Given the description of an element on the screen output the (x, y) to click on. 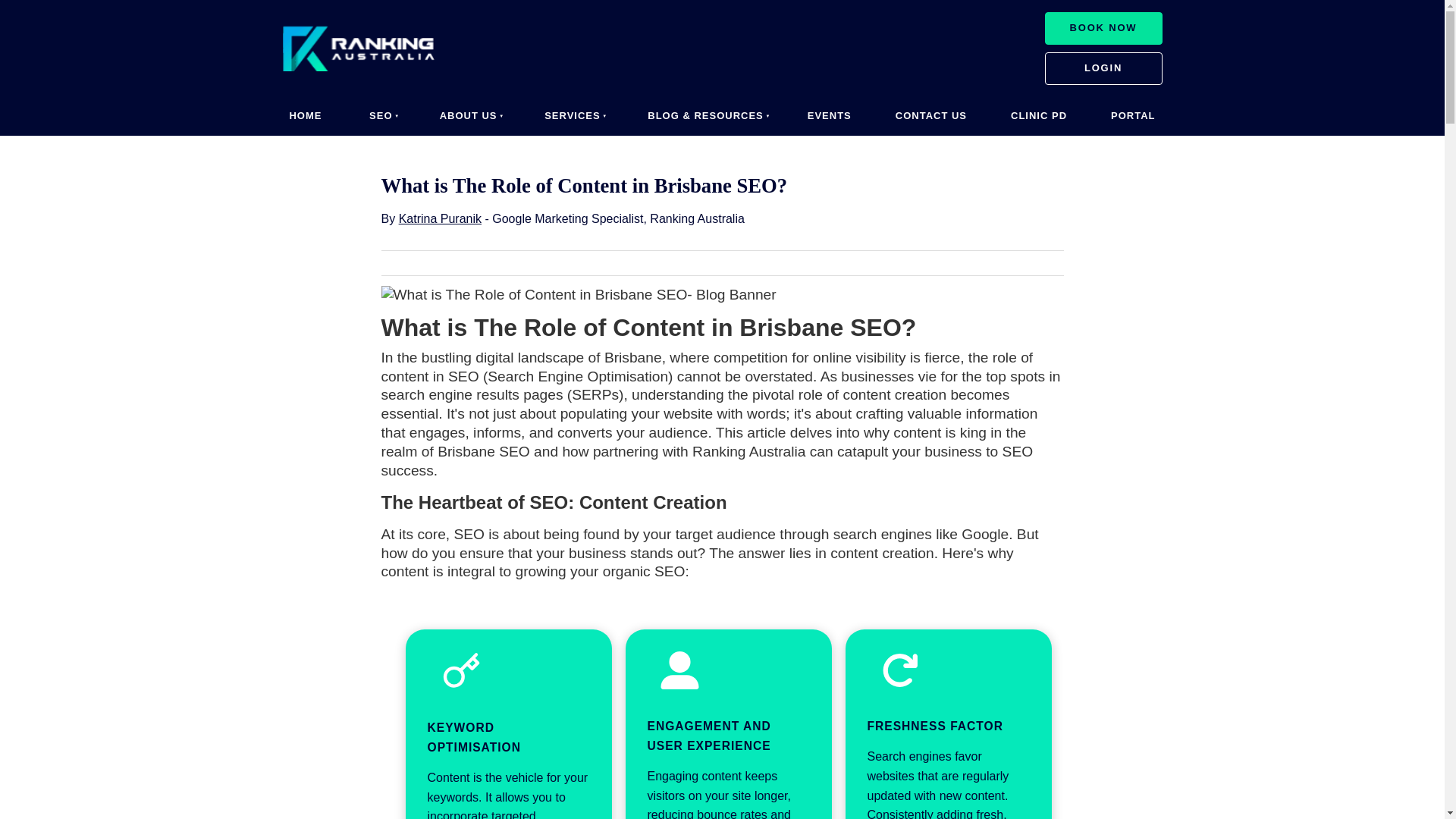
ABOUT US (466, 116)
PORTAL (1132, 116)
SEO (378, 116)
EVENTS (829, 116)
Katrina Puranik (439, 218)
What is The Role of Content in Brisbane SEO- Blog Banner (578, 294)
Talk To Our Google Experts (1103, 68)
Brisbane SEO Agency - SEO Services - Subscriptions (1103, 28)
CONTACT US (930, 116)
BOOK NOW (1103, 28)
CLINIC PD (1038, 116)
HOME (304, 116)
SERVICES (571, 116)
LOGIN (1103, 68)
